Given the description of an element on the screen output the (x, y) to click on. 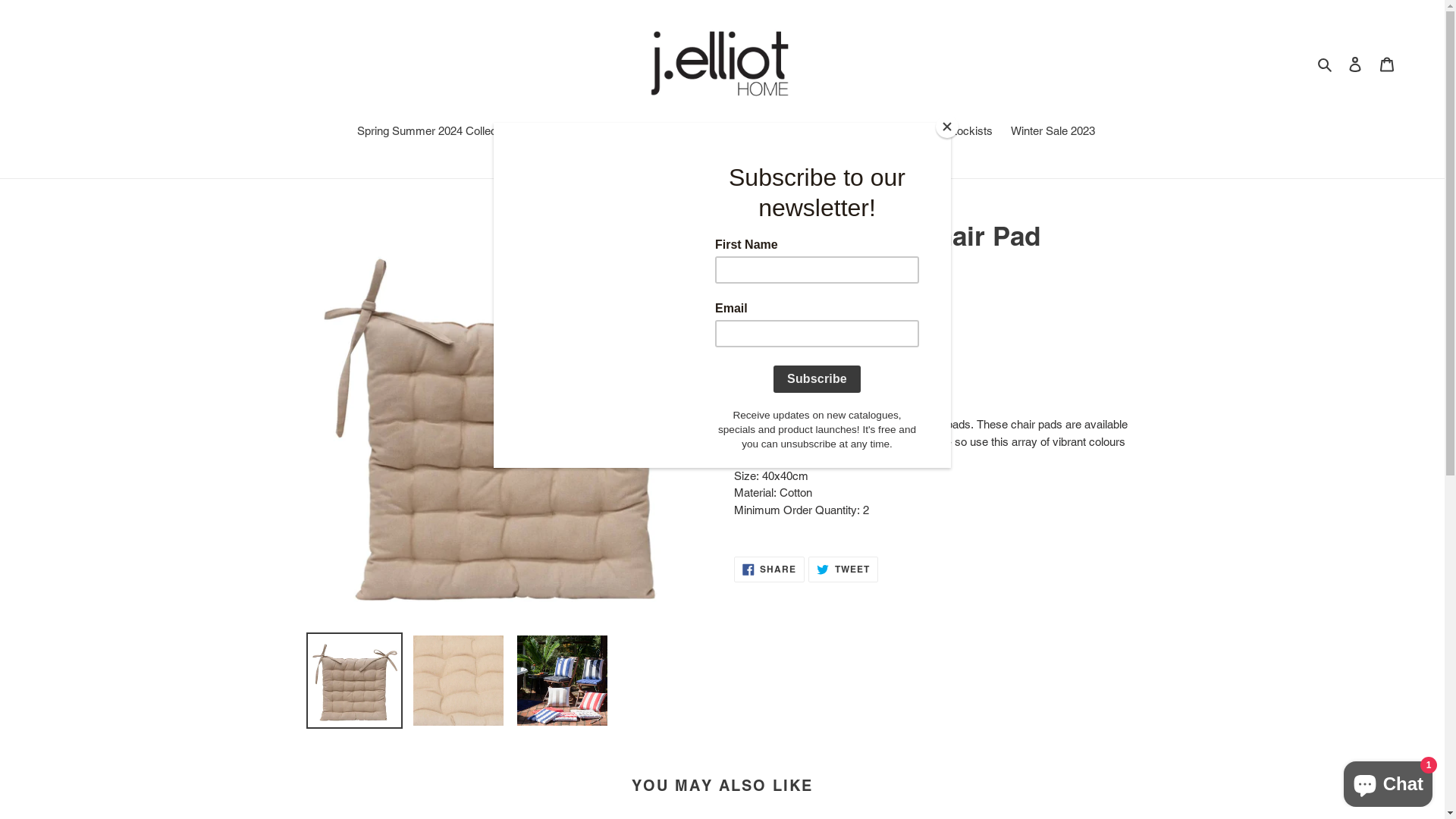
About Us Element type: text (770, 132)
Shop by Range Element type: text (603, 132)
Cart Element type: text (1386, 63)
TWEET
TWEET ON TWITTER Element type: text (843, 569)
Catalogues Element type: text (701, 132)
Spring Summer 2024 Collection Element type: text (435, 130)
Spring Summer 2024 Collection Element type: text (441, 132)
LOGIN TO START SHOPPING Element type: text (822, 375)
Contact Us Element type: text (839, 132)
Register Element type: text (906, 132)
SHARE
SHARE ON FACEBOOK Element type: text (769, 569)
LOGIN TO START SHOPPING Element type: text (822, 374)
Shop by Range Element type: text (597, 130)
Winter Sale 2023 Element type: text (1052, 132)
Shopify online store chat Element type: hover (1388, 780)
Search Element type: text (1325, 62)
Shipping Element type: text (754, 320)
Stockists Element type: text (969, 132)
Log in Element type: text (1355, 63)
